Given the description of an element on the screen output the (x, y) to click on. 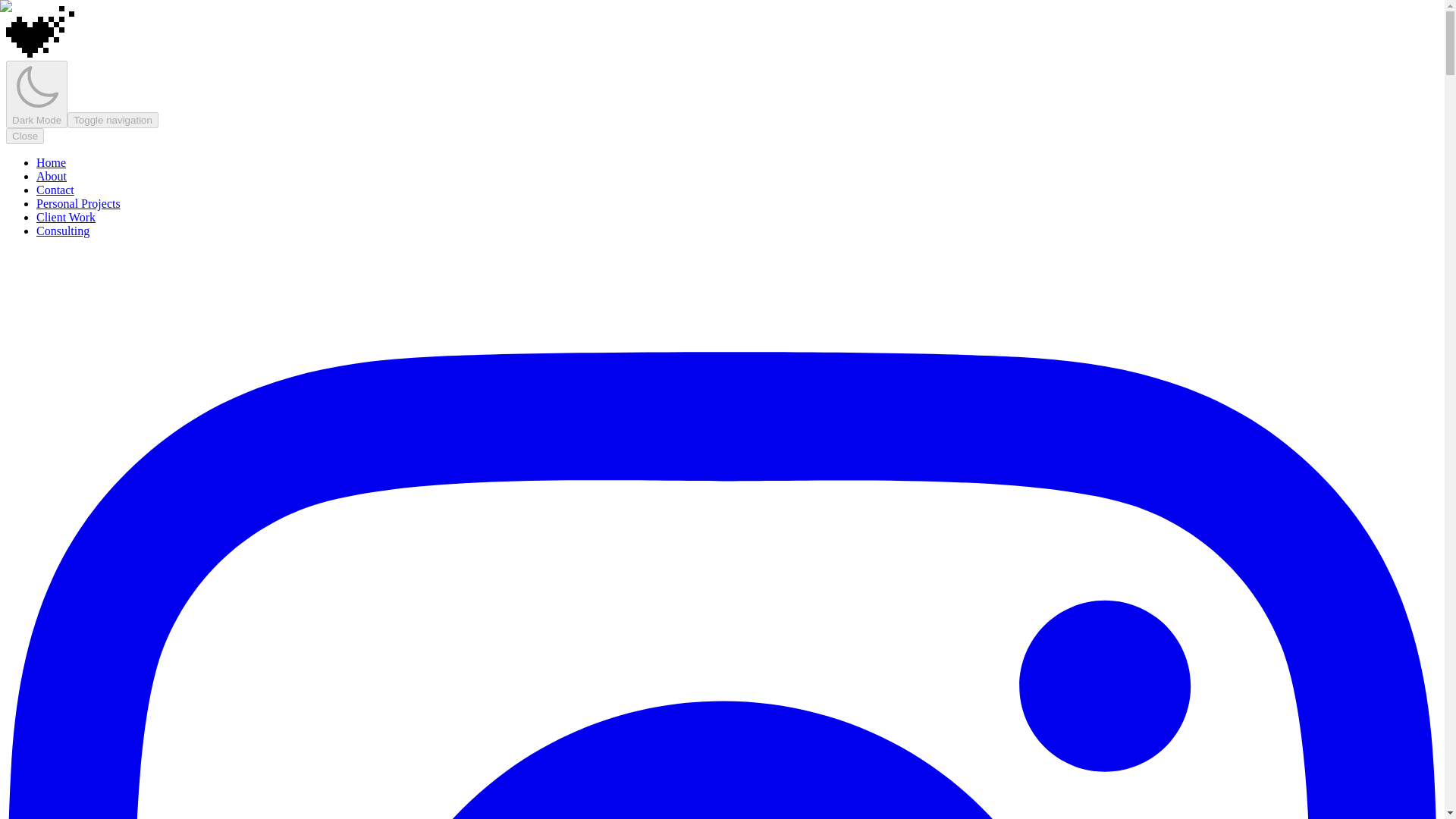
Toggle navigation (112, 119)
About (51, 175)
Personal Projects (78, 203)
Client Work (66, 216)
Dark Mode (35, 93)
Close (24, 135)
Underlost, By Tyler Rilling (39, 31)
Contact (55, 189)
Consulting (62, 230)
Home (50, 162)
